Given the description of an element on the screen output the (x, y) to click on. 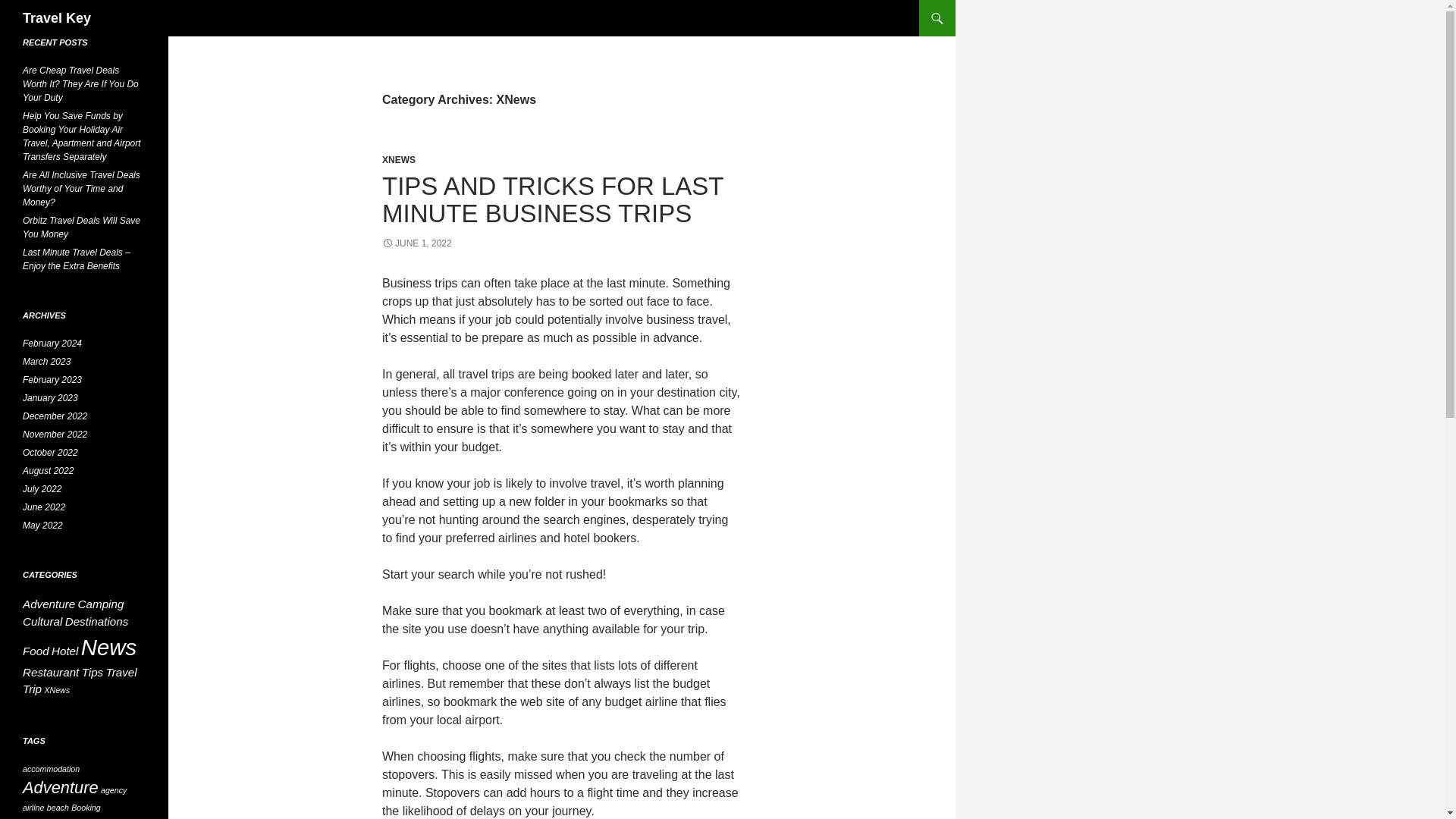
Adventure (61, 787)
Camping (100, 603)
News (108, 647)
November 2022 (55, 434)
accommodation (51, 768)
Travel (121, 671)
JUNE 1, 2022 (416, 243)
February 2023 (52, 379)
Destinations (97, 621)
Restaurant (50, 671)
Food (36, 650)
XNews (56, 689)
December 2022 (55, 416)
